Given the description of an element on the screen output the (x, y) to click on. 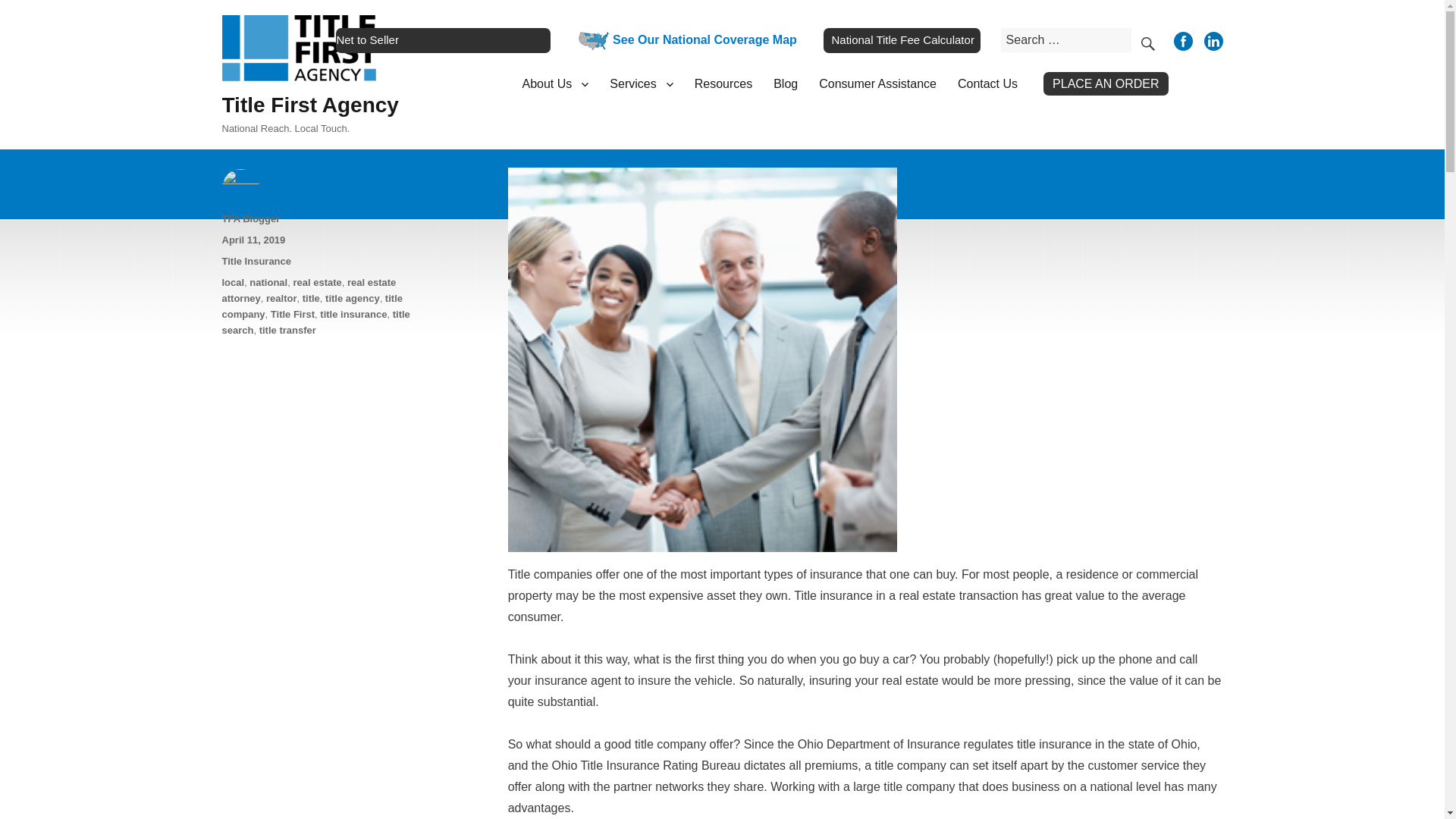
National Title Fee Calculator (901, 39)
About Us (554, 83)
Title First Agency (309, 105)
Services (640, 83)
Net to Seller (443, 39)
SEARCH (1147, 39)
See Our National Coverage Map (683, 39)
